Given the description of an element on the screen output the (x, y) to click on. 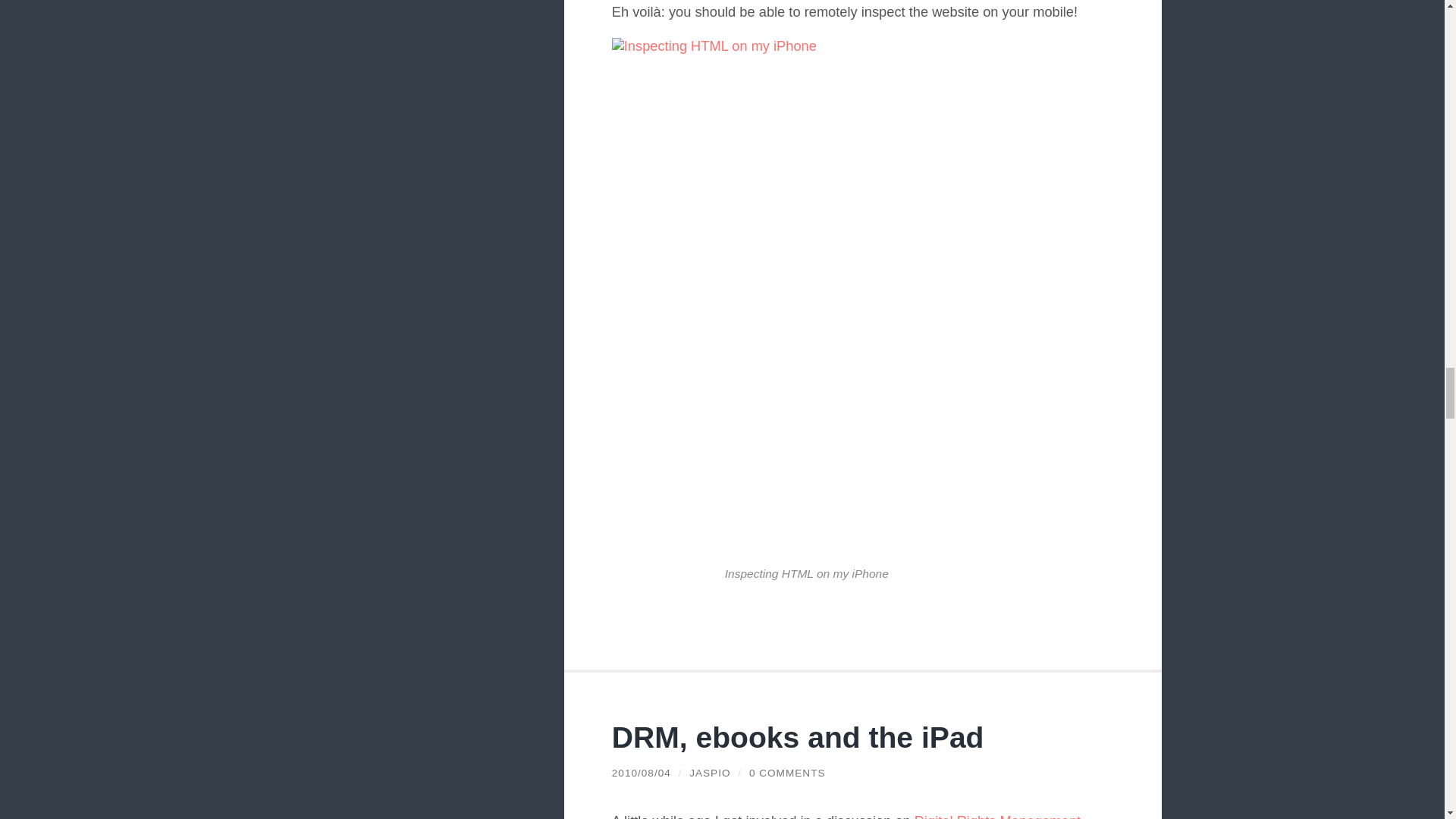
Posts by Jaspio (709, 772)
